Given the description of an element on the screen output the (x, y) to click on. 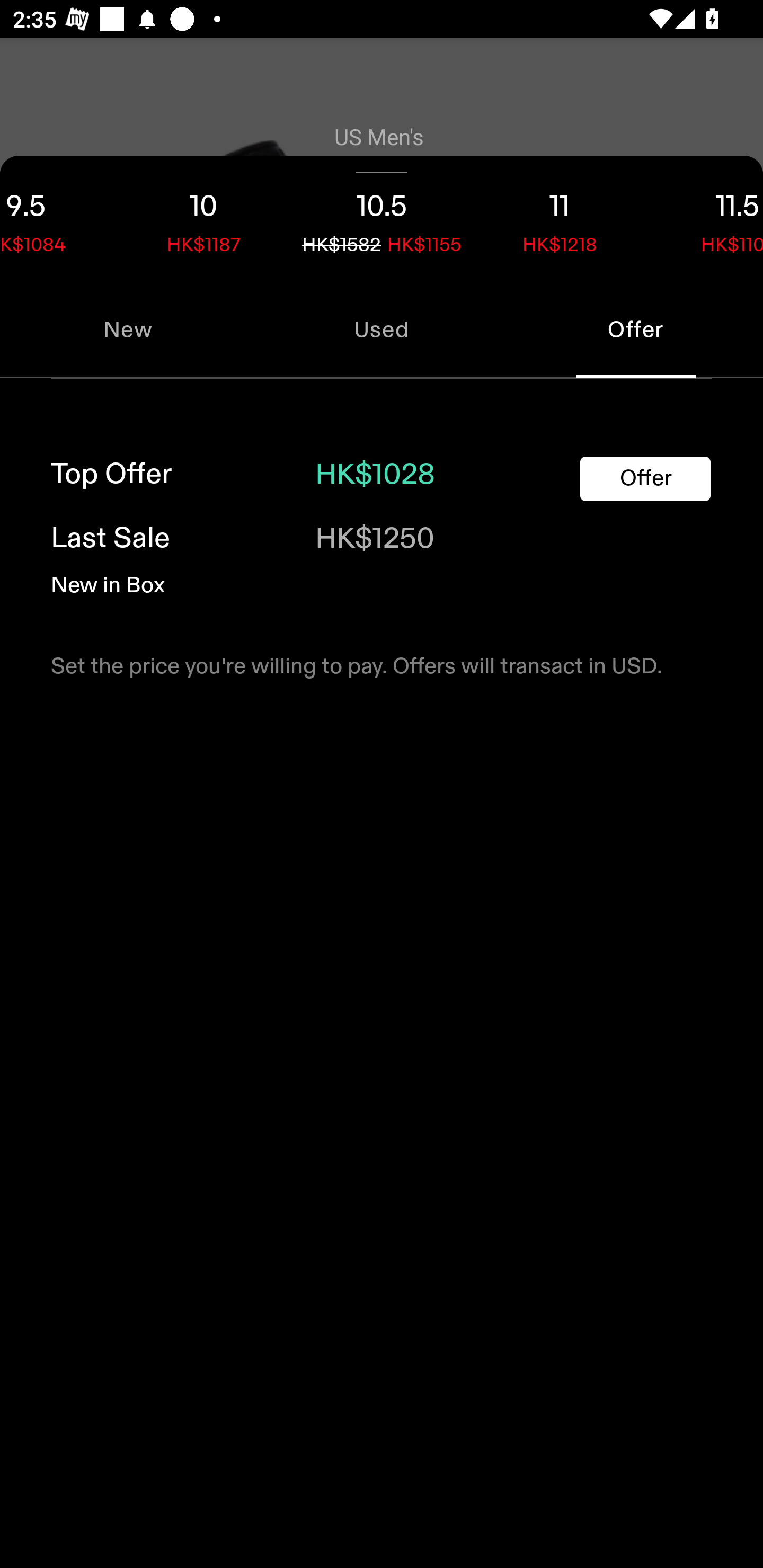
9.5 HK$1084 (57, 218)
10 HK$1187 (203, 218)
10.5 HK$1582 HK$1155 (381, 218)
11 HK$1218 (559, 218)
11.5 HK$1107 (705, 218)
New (127, 329)
Used (381, 329)
Offer (644, 478)
